Given the description of an element on the screen output the (x, y) to click on. 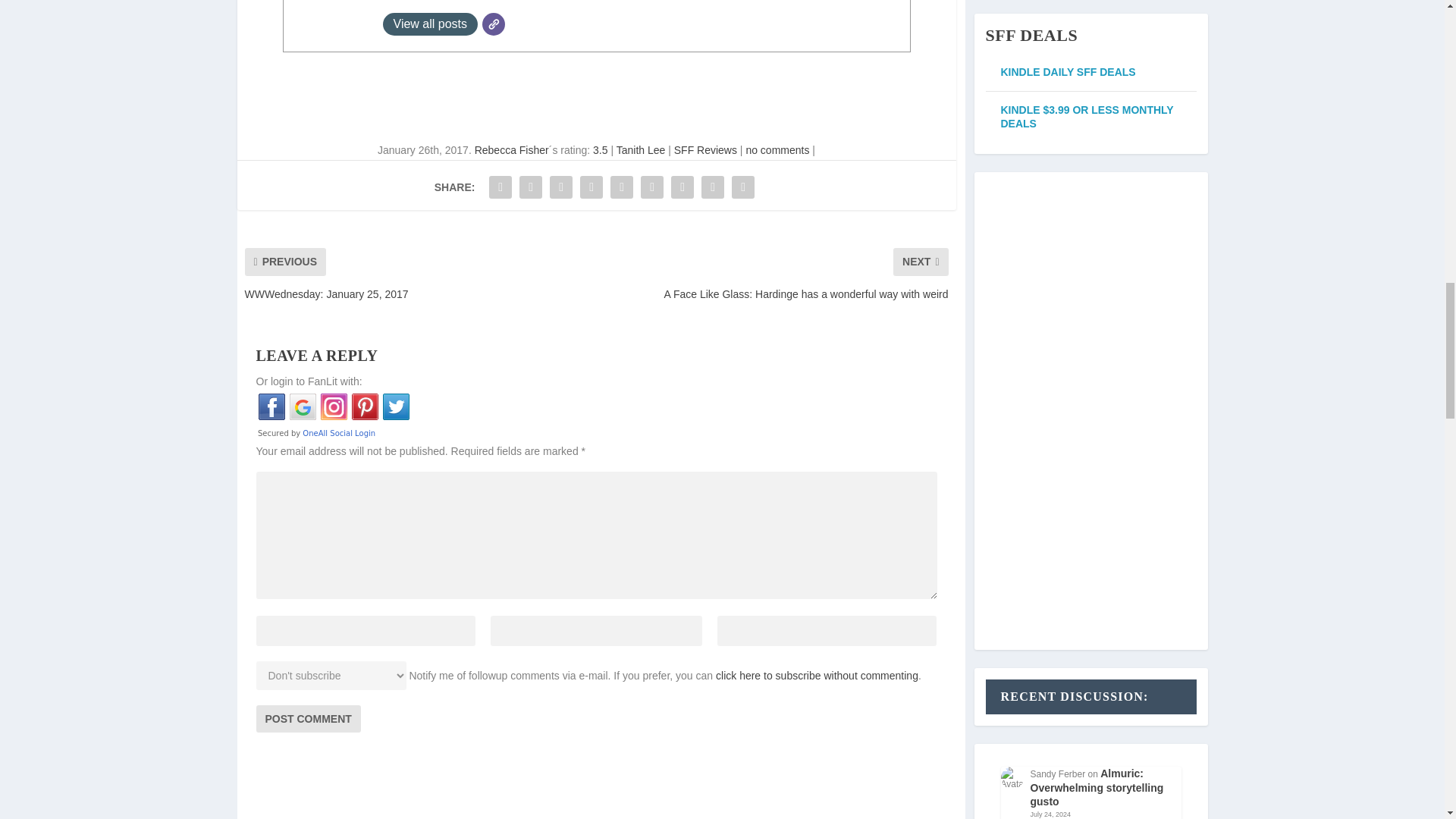
Post Comment (308, 718)
View all posts (429, 24)
Posts by Rebecca Fisher (511, 150)
